Given the description of an element on the screen output the (x, y) to click on. 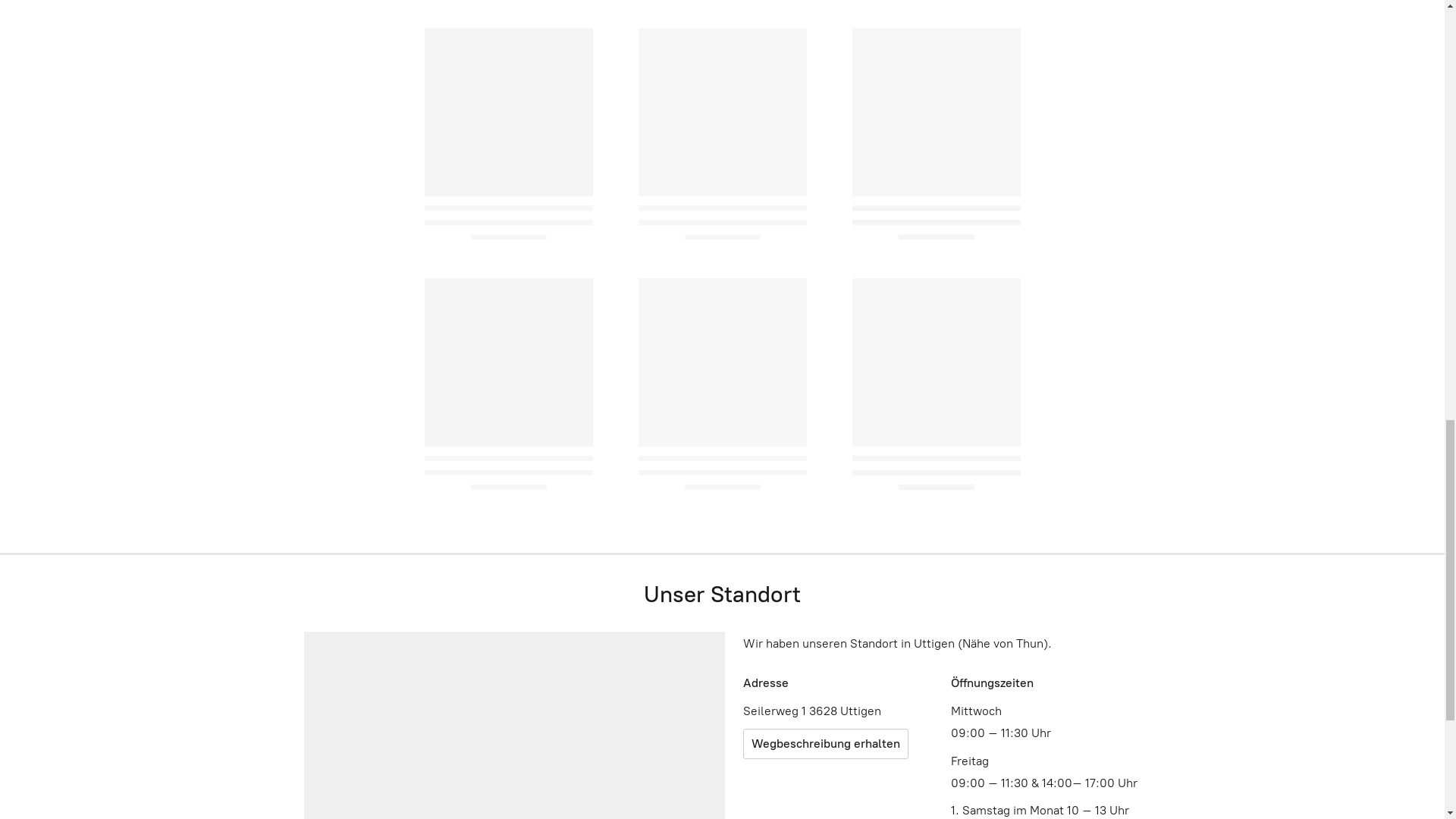
Jetzt einkaufen Element type: text (722, 517)
